Given the description of an element on the screen output the (x, y) to click on. 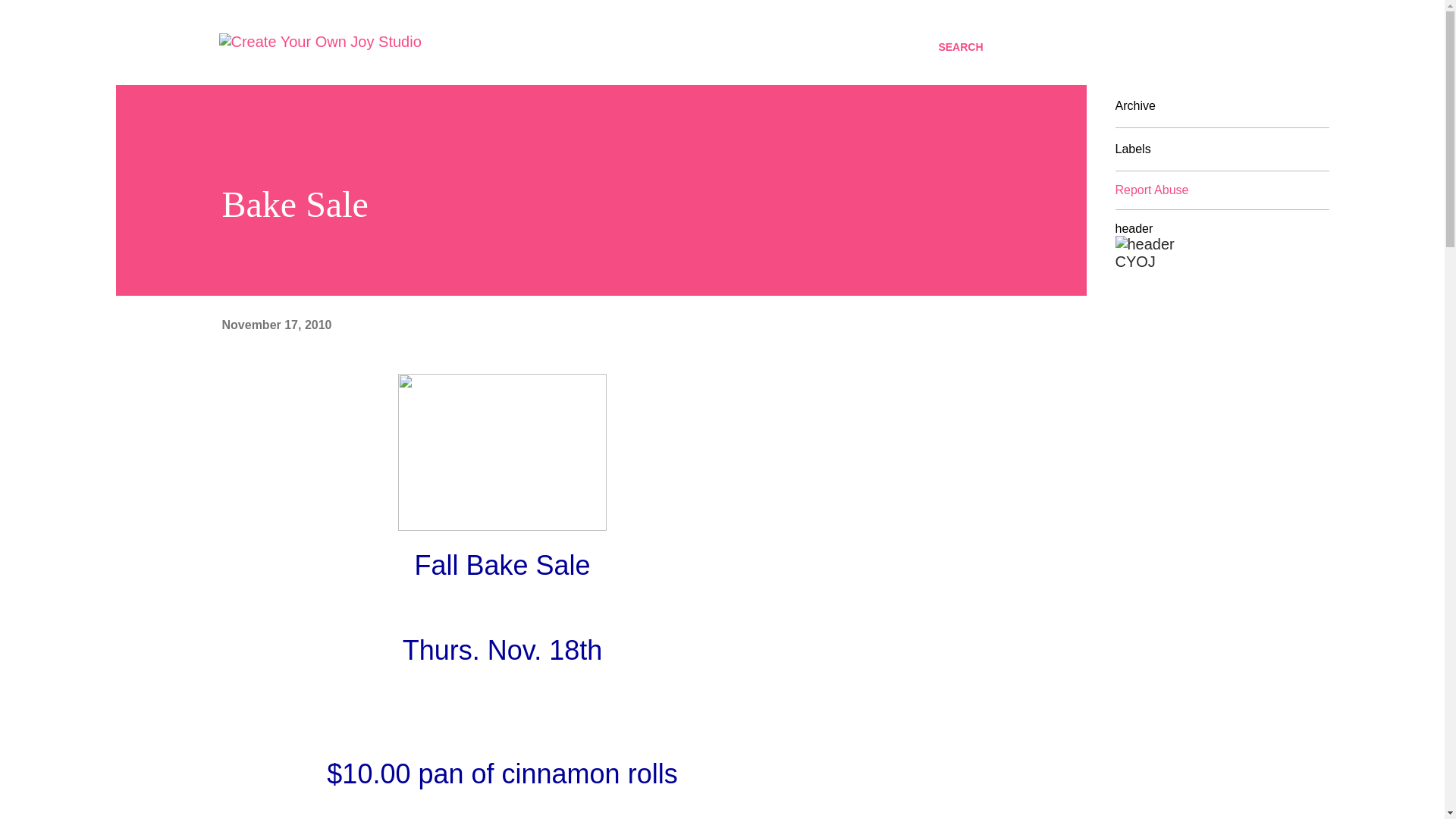
November 17, 2010 (276, 324)
SEARCH (959, 46)
permanent link (276, 324)
